Given the description of an element on the screen output the (x, y) to click on. 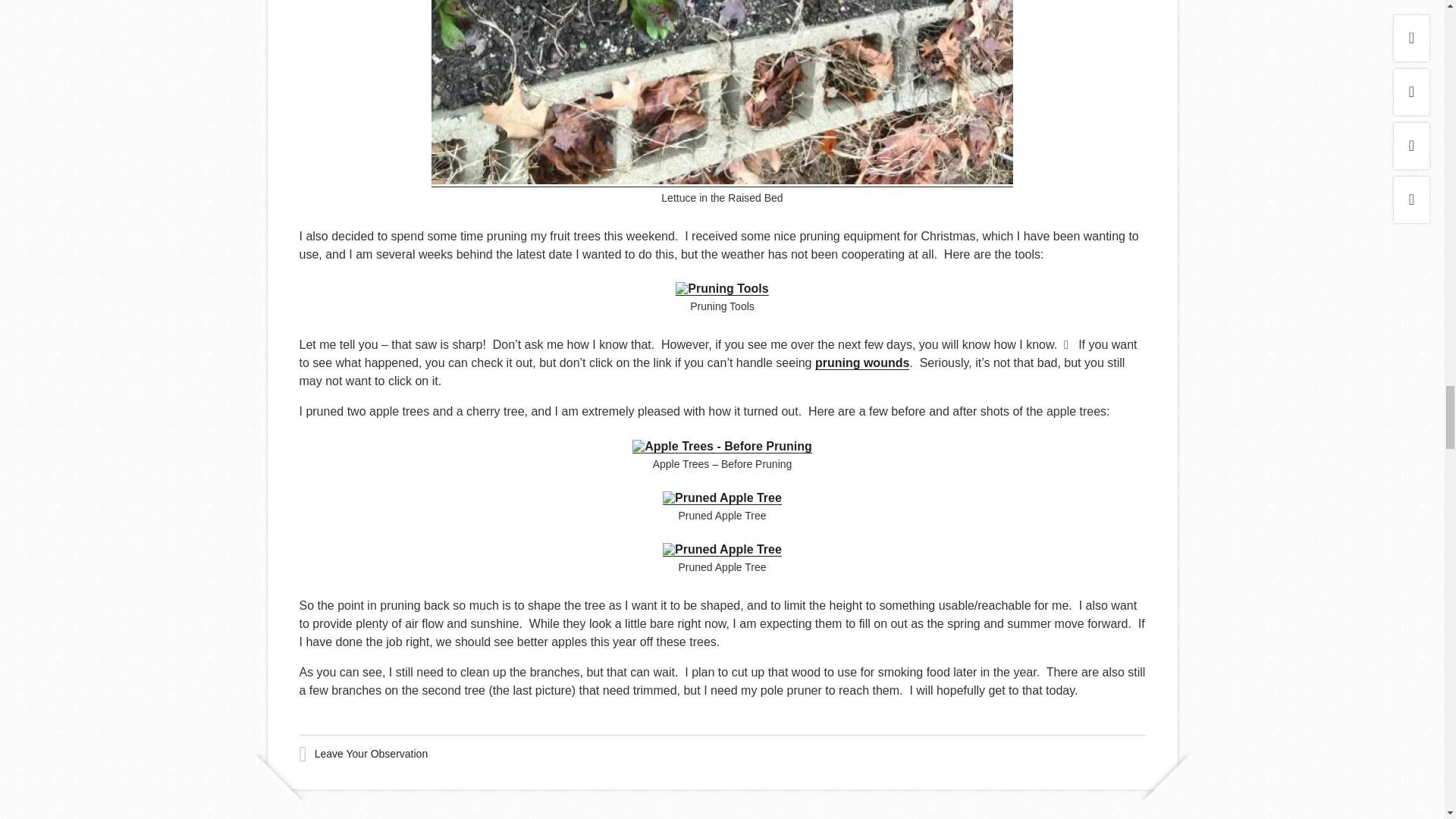
Pruning Wounds (861, 363)
pruning wounds (861, 363)
Leave Your Observation (371, 753)
